Given the description of an element on the screen output the (x, y) to click on. 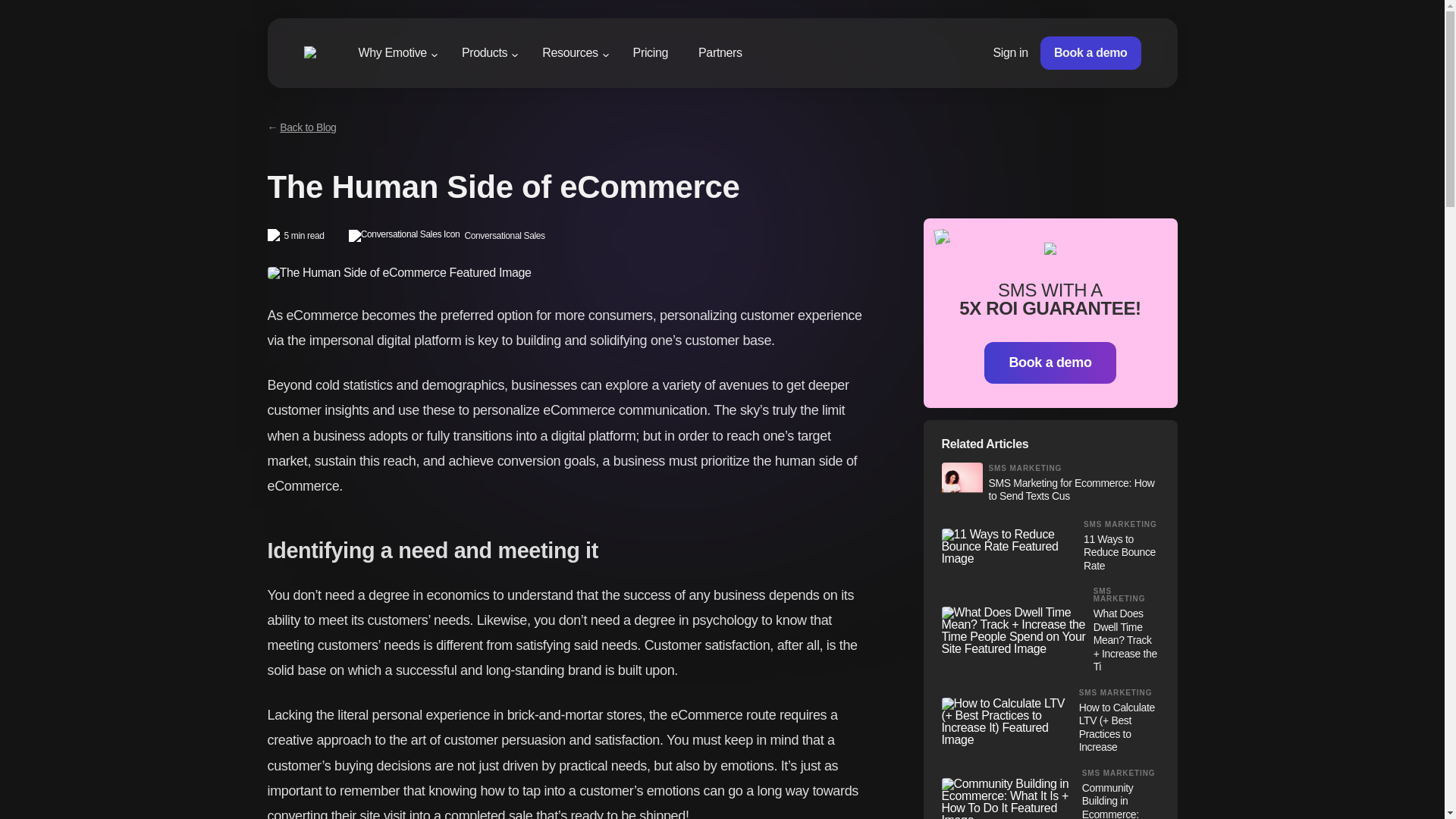
Why Emotive (392, 55)
Partners (720, 52)
Sign in (1009, 51)
Products (484, 55)
Book a demo (1091, 52)
Resources (569, 55)
Pricing (650, 52)
